Given the description of an element on the screen output the (x, y) to click on. 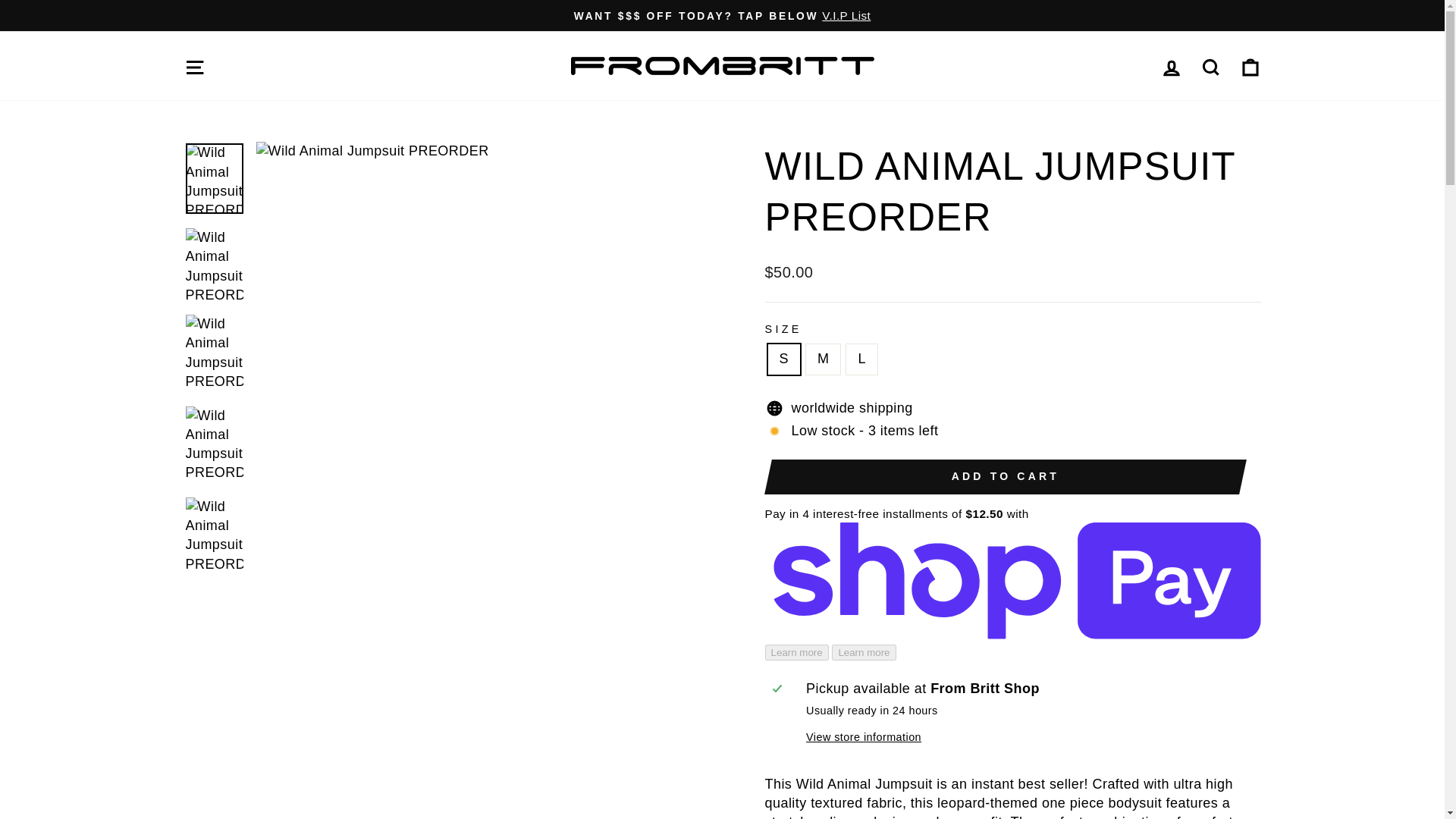
CART (1249, 65)
SEARCH (1210, 65)
LOG IN (1171, 65)
SITE NAVIGATION (194, 65)
